Given the description of an element on the screen output the (x, y) to click on. 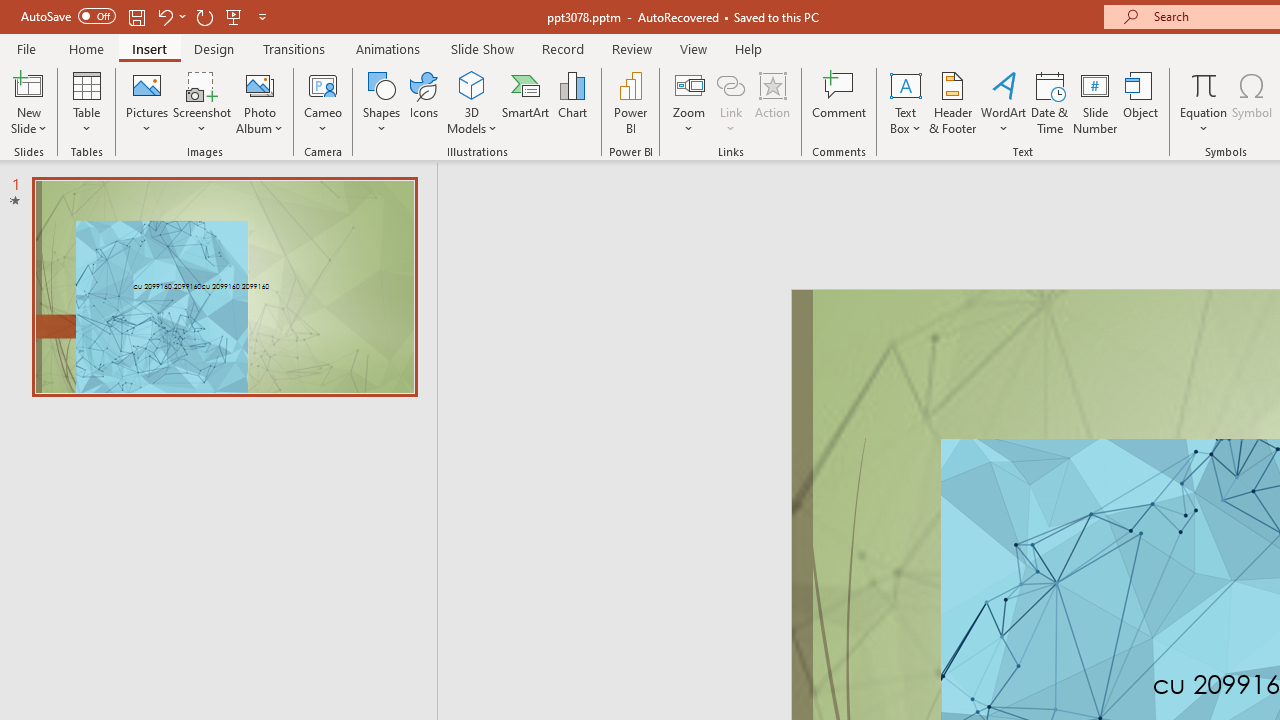
Object... (1141, 102)
Pictures (147, 102)
New Photo Album... (259, 84)
Table (86, 102)
Screenshot (202, 102)
